Given the description of an element on the screen output the (x, y) to click on. 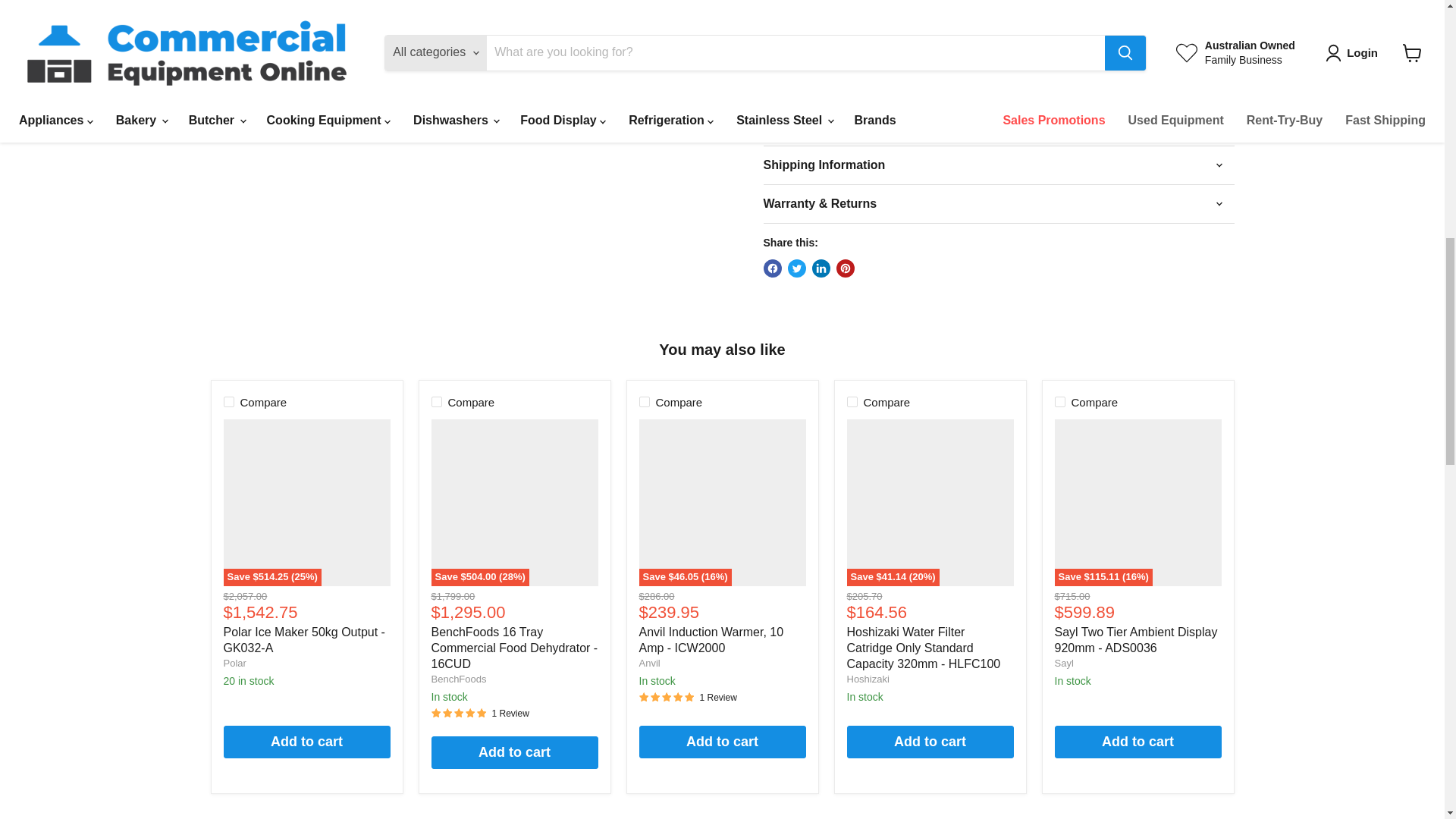
Hoshizaki (866, 678)
Anvil (649, 663)
Sayl (1063, 663)
Polar (234, 663)
BenchFoods (458, 678)
